Given the description of an element on the screen output the (x, y) to click on. 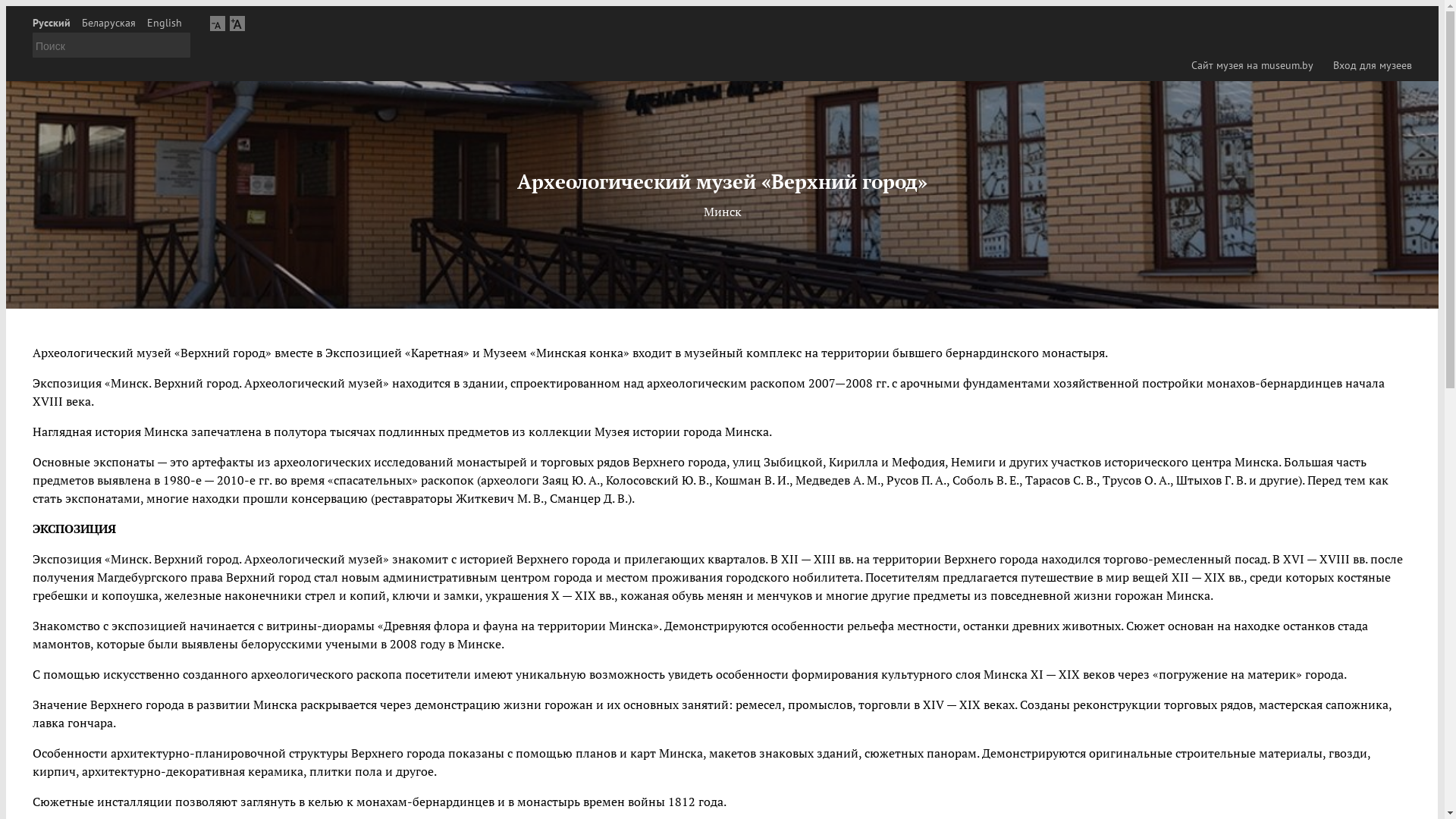
English Element type: text (164, 23)
A Element type: text (217, 22)
A Element type: text (236, 22)
